Given the description of an element on the screen output the (x, y) to click on. 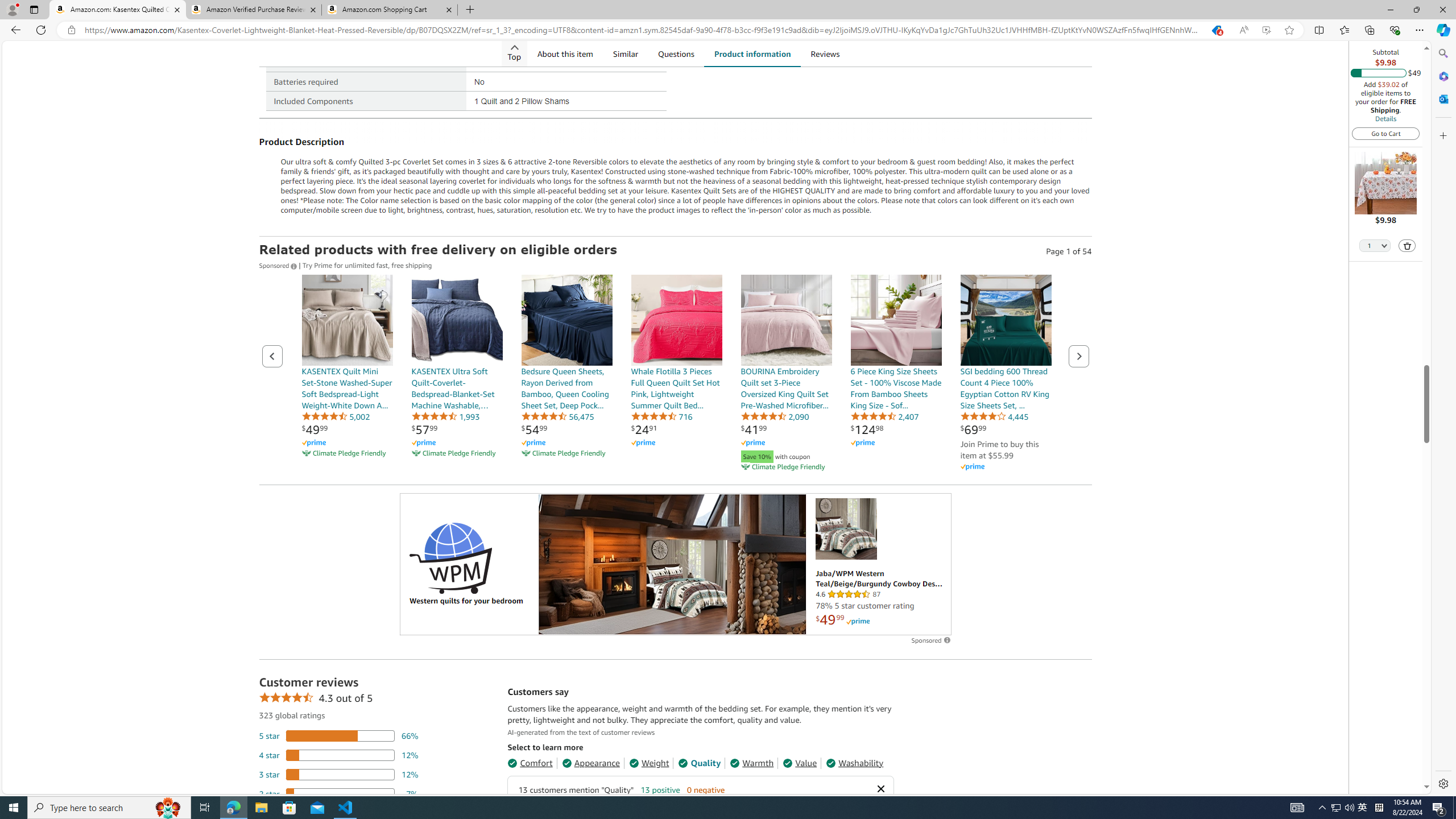
$57.99 (424, 429)
$54.99 (534, 429)
$69.99 (973, 429)
66 percent of reviews have 5 stars (339, 735)
Comfort (529, 762)
Previous page of related Sponsored Products (272, 355)
